Given the description of an element on the screen output the (x, y) to click on. 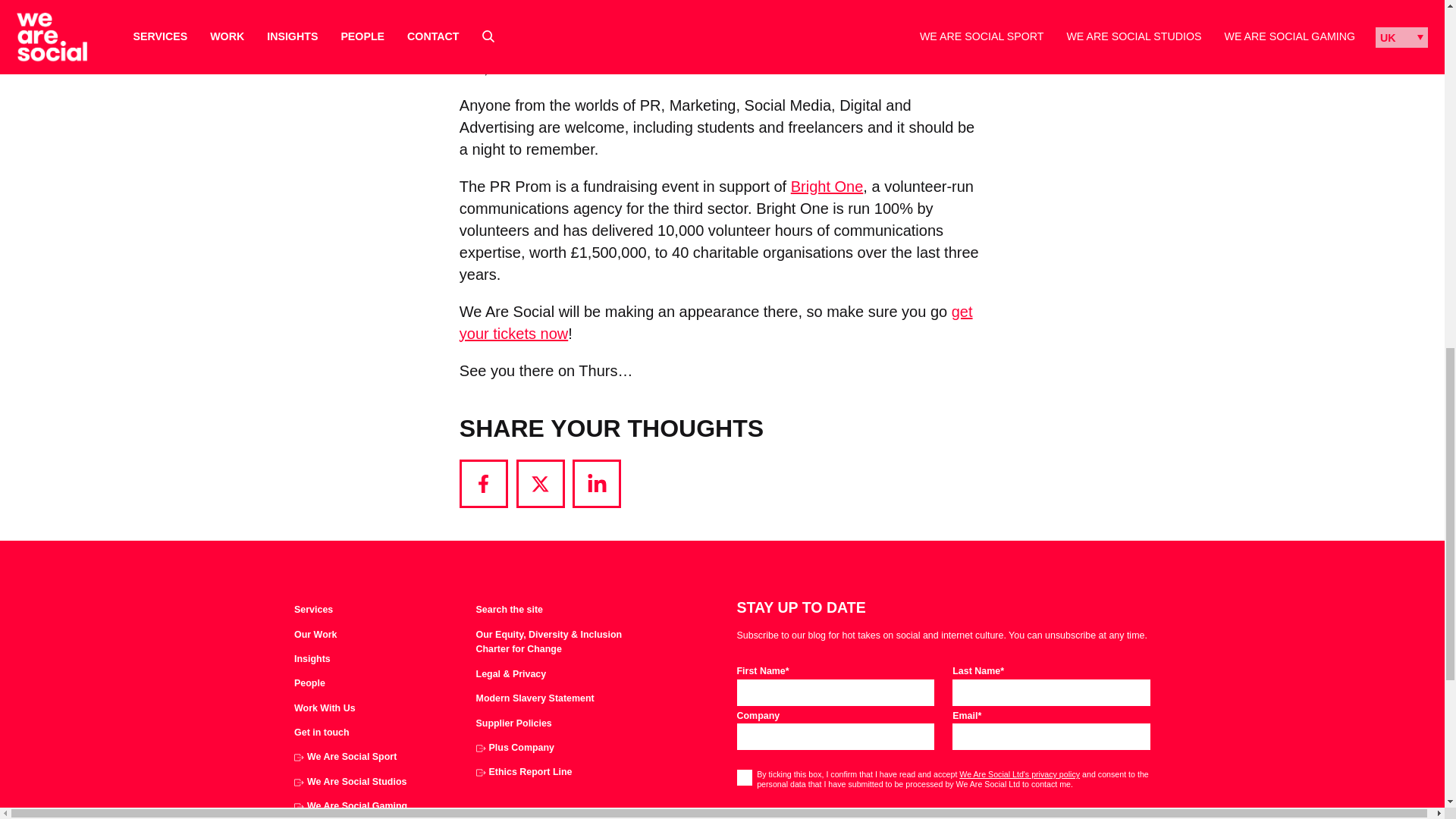
get your tickets now (716, 322)
Insights (312, 659)
Modern Slavery Statement (535, 698)
We Are Social Sport (345, 757)
Share via Facebook (484, 483)
Supplier Policies (513, 724)
Share via Facebook (484, 483)
Services (313, 610)
Plus Company (515, 748)
Insights (312, 659)
